Given the description of an element on the screen output the (x, y) to click on. 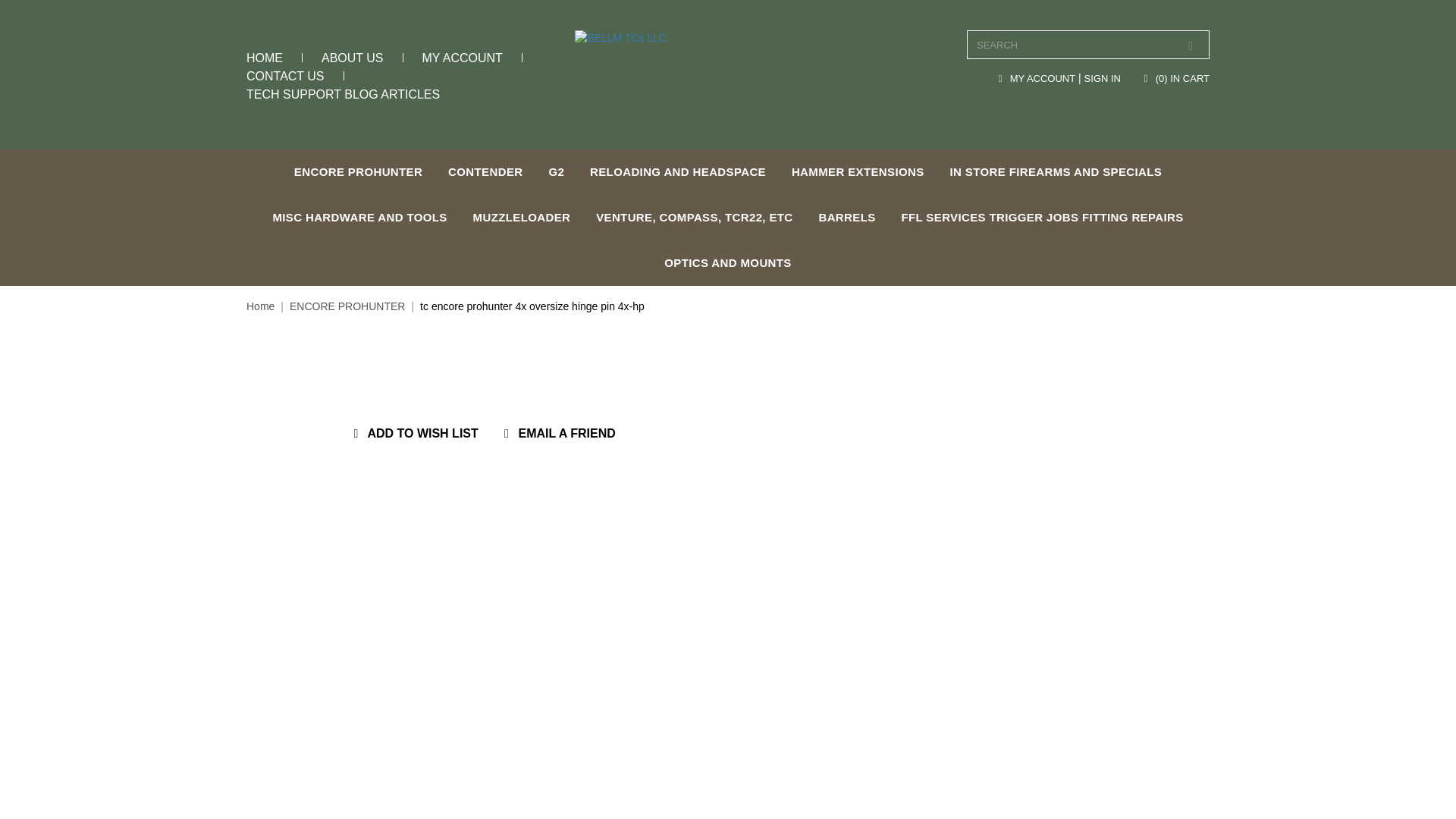
ADD TO WISH LIST (412, 433)
VENTURE, COMPASS, TCR22, ETC (694, 217)
ABOUT US (352, 57)
MUZZLELOADER (521, 217)
CONTACT US (285, 75)
EMAIL A FRIEND (556, 433)
Home (260, 306)
OPTICS AND MOUNTS (727, 262)
CONTENDER (485, 171)
HAMMER EXTENSIONS (858, 171)
